Given the description of an element on the screen output the (x, y) to click on. 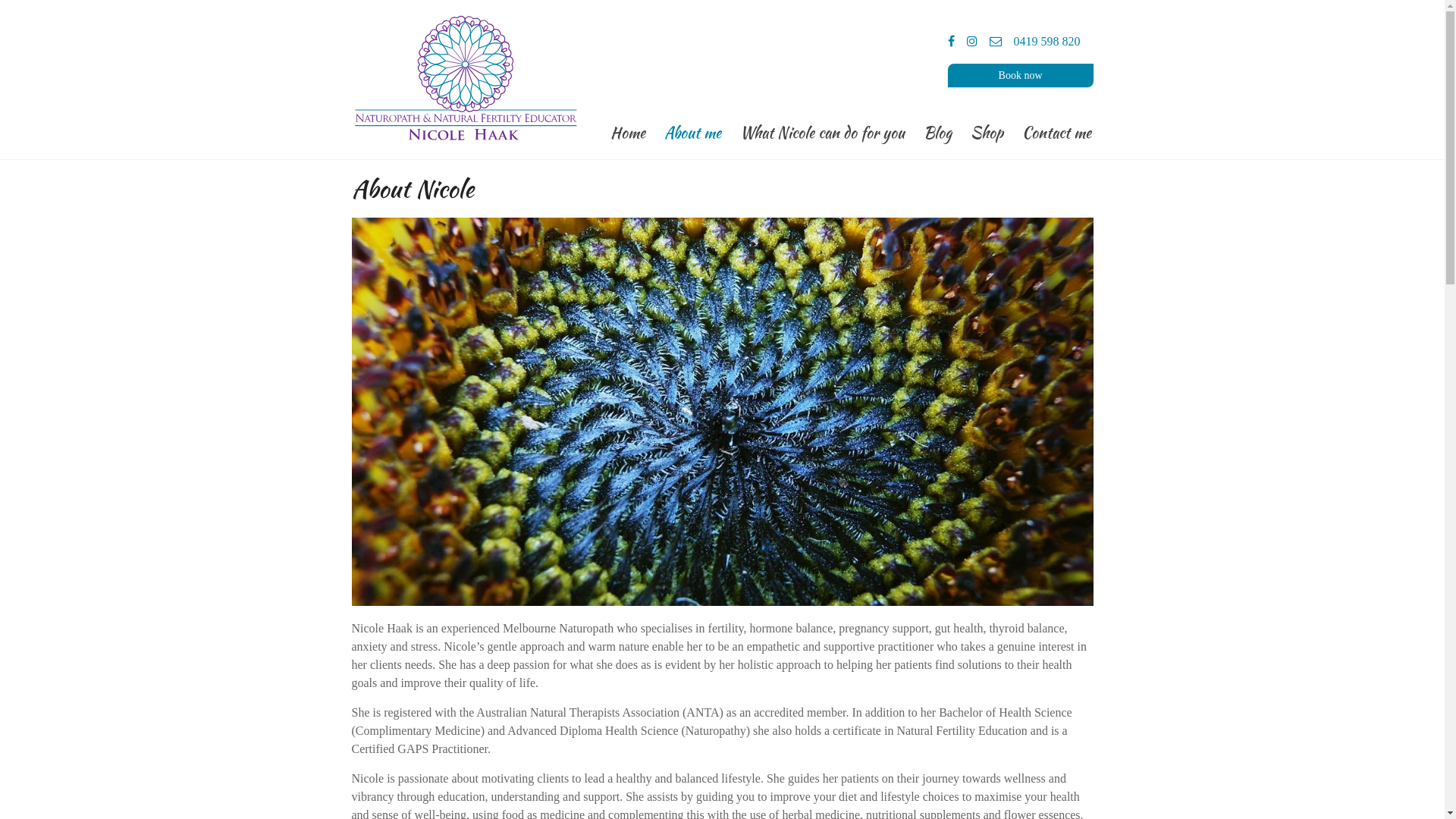
Blog Element type: text (937, 129)
Contact me Element type: text (1056, 129)
What Nicole can do for you Element type: text (822, 129)
About me Element type: text (692, 129)
0419 598 820 Element type: text (1046, 40)
Book now Element type: text (1020, 75)
Shop Element type: text (986, 129)
Home Element type: text (626, 129)
